Given the description of an element on the screen output the (x, y) to click on. 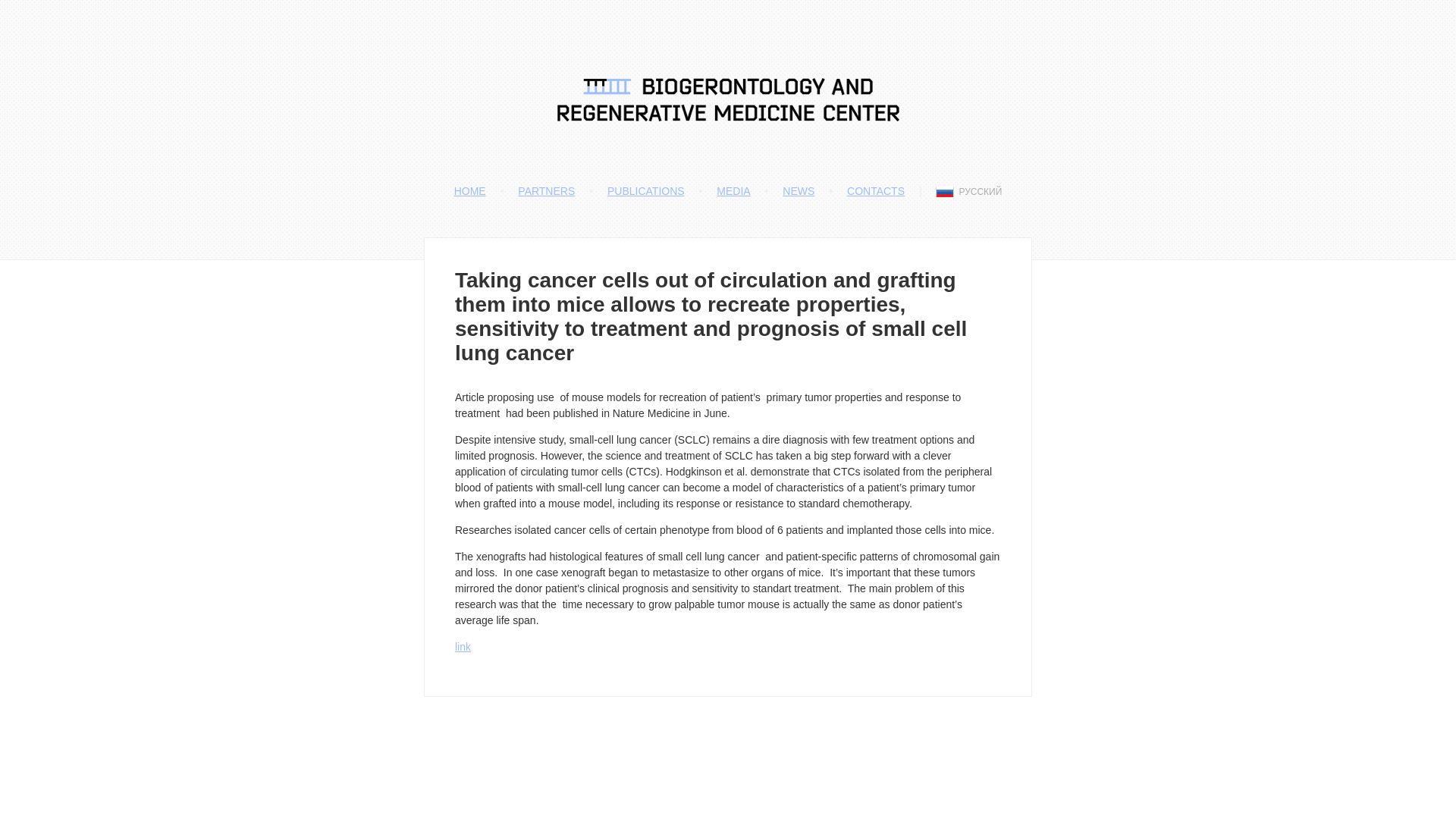
PUBLICATIONS (645, 191)
CONTACTS (875, 191)
MEDIA (732, 191)
link (462, 646)
NEWS (798, 191)
PARTNERS (546, 191)
HOME (470, 191)
